Given the description of an element on the screen output the (x, y) to click on. 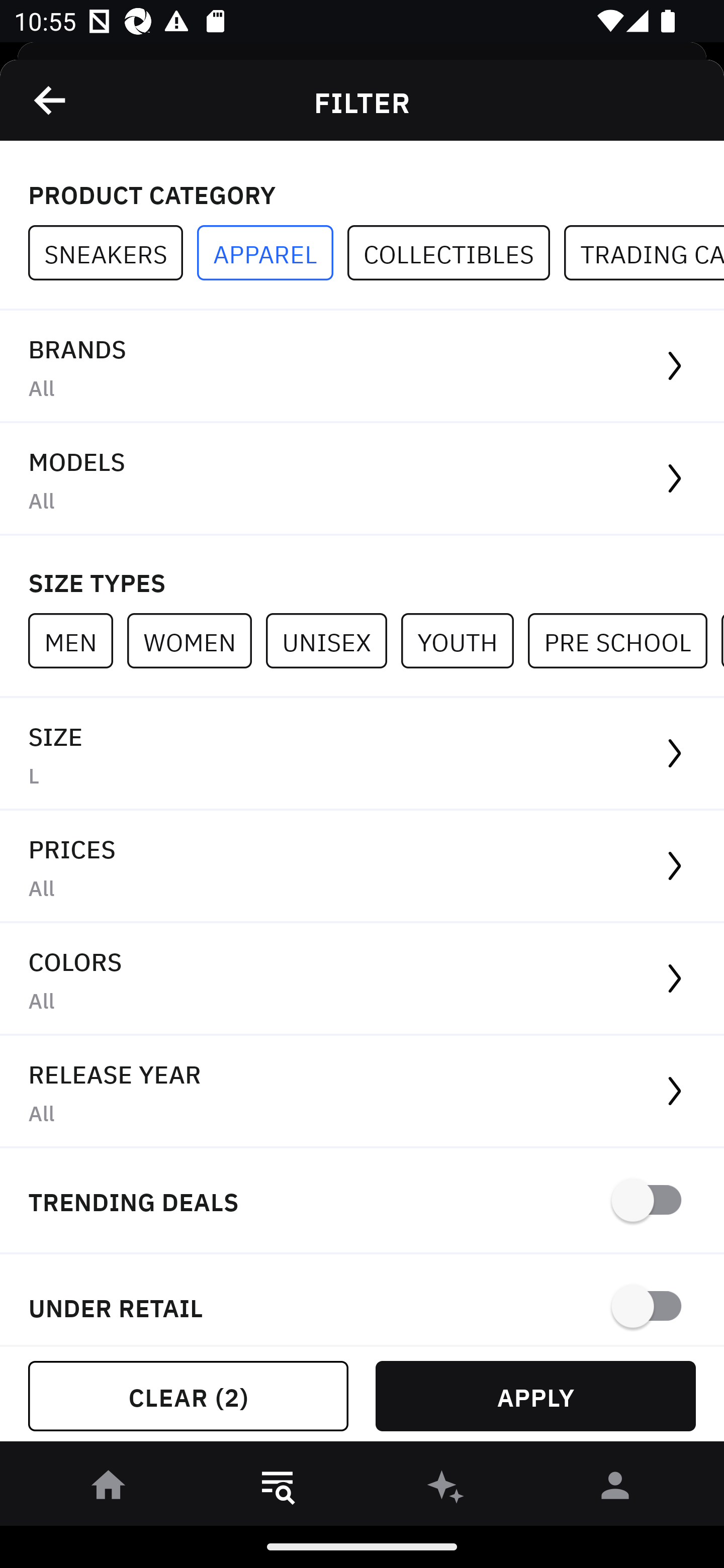
 (50, 100)
SNEAKERS (112, 252)
APPAREL (271, 252)
COLLECTIBLES (455, 252)
TRADING CARDS (643, 252)
BRANDS All (362, 366)
MODELS All (362, 479)
MEN (77, 640)
WOMEN (196, 640)
UNISEX (333, 640)
YOUTH (464, 640)
PRE SCHOOL (624, 640)
SIZE L (362, 753)
PRICES All (362, 866)
COLORS All (362, 979)
RELEASE YEAR All (362, 1091)
TRENDING DEALS (362, 1200)
UNDER RETAIL (362, 1299)
CLEAR (2) (188, 1396)
APPLY (535, 1396)
󰋜 (108, 1488)
󱎸 (277, 1488)
󰫢 (446, 1488)
󰀄 (615, 1488)
